Given the description of an element on the screen output the (x, y) to click on. 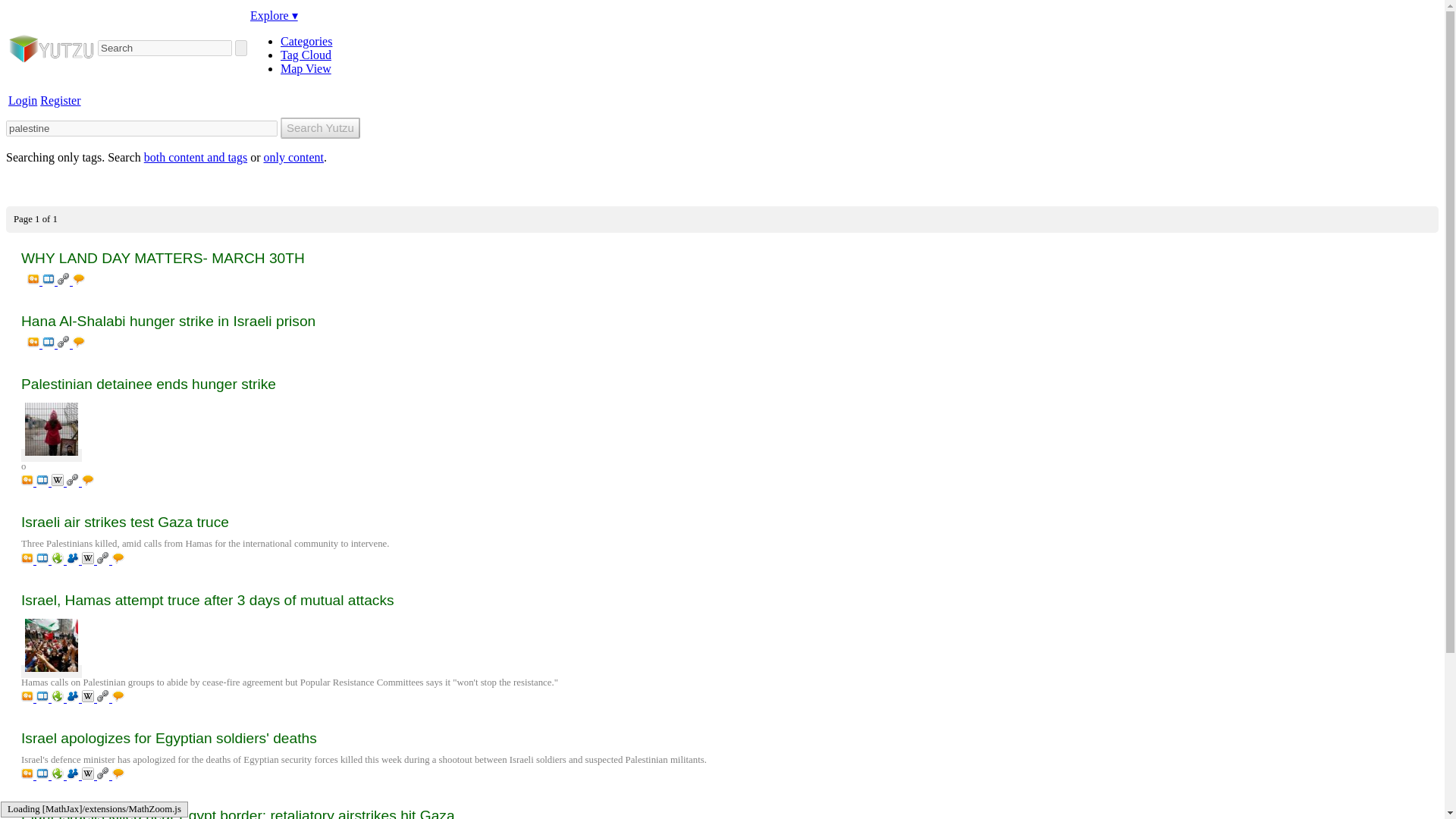
Hana Al-Shalabi hunger strike in Israeli prison (722, 321)
videos (50, 343)
Tag Cloud (306, 54)
pictures (34, 343)
pictures (28, 559)
comment (78, 343)
videos (43, 559)
social (73, 559)
pictures (28, 481)
Palestinian detainee ends hunger strike (722, 383)
Israeli air strikes test Gaza truce (722, 522)
Register (60, 100)
wikipedia (58, 481)
comment (78, 280)
map (58, 559)
